Given the description of an element on the screen output the (x, y) to click on. 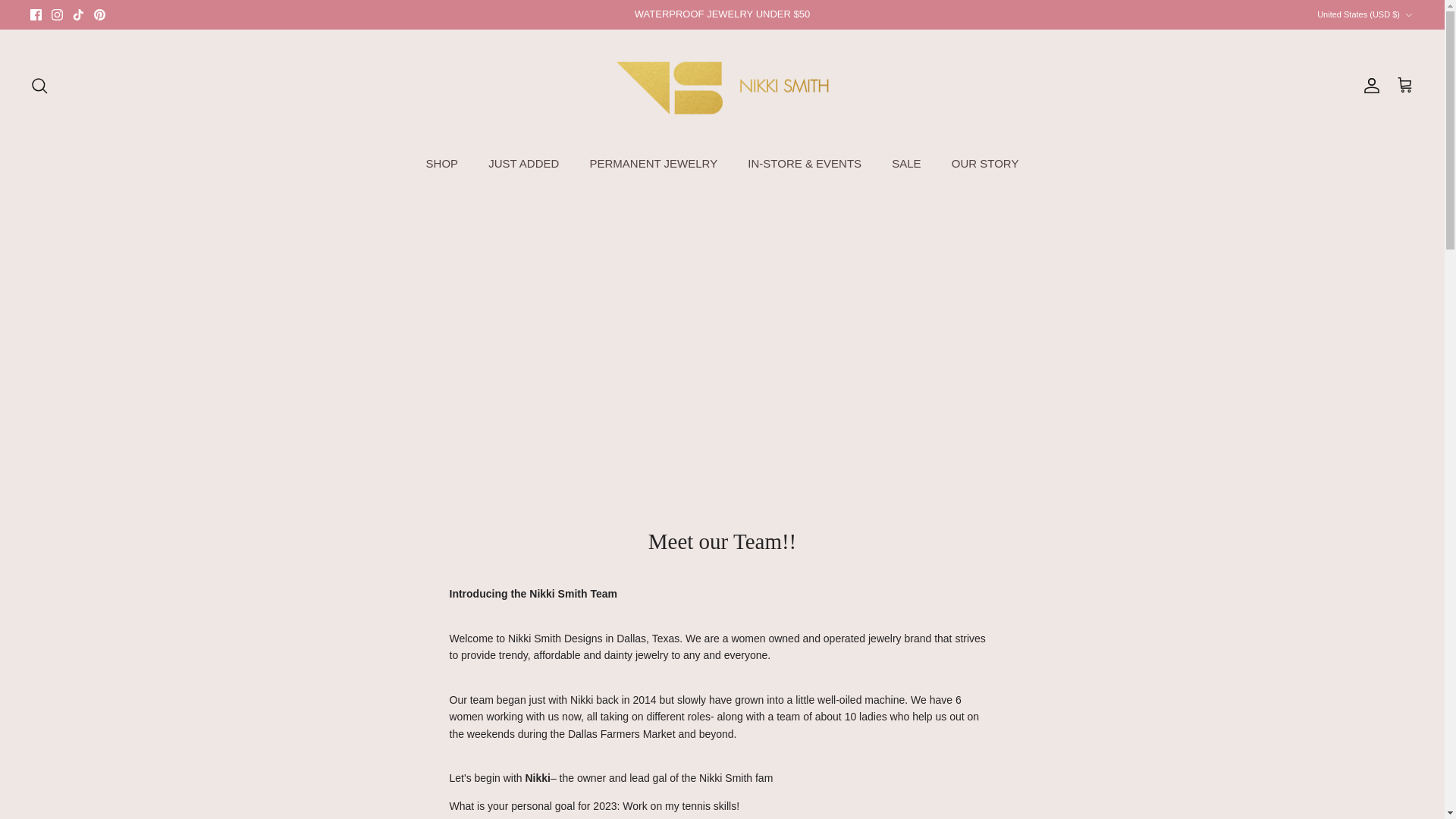
Instagram (56, 14)
Facebook (36, 14)
Down (1408, 14)
Instagram (56, 14)
Facebook (36, 14)
Nikki Smith Designs  (722, 85)
Pinterest (99, 14)
Pinterest (99, 14)
